Given the description of an element on the screen output the (x, y) to click on. 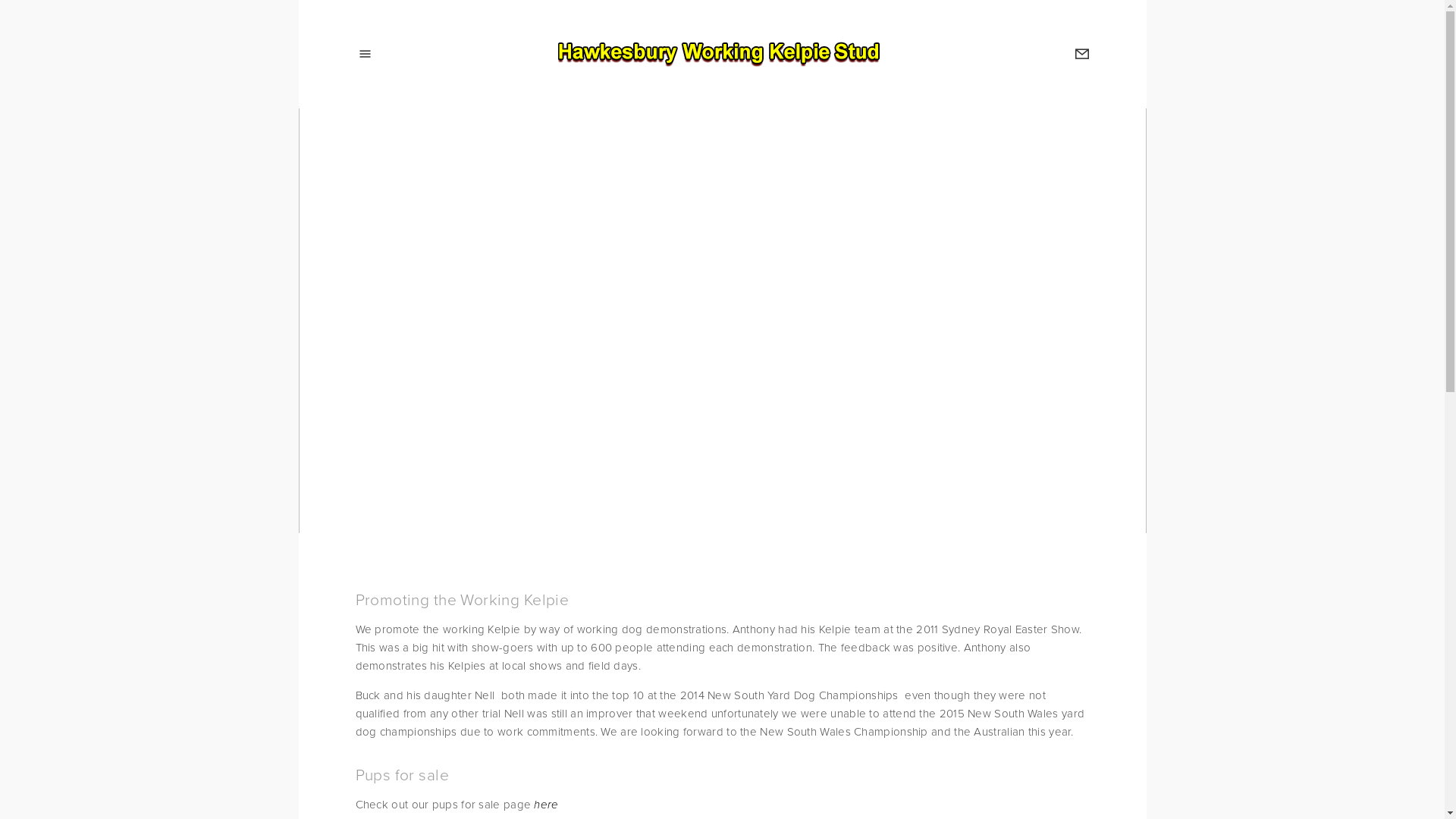
here Element type: text (545, 804)
